Given the description of an element on the screen output the (x, y) to click on. 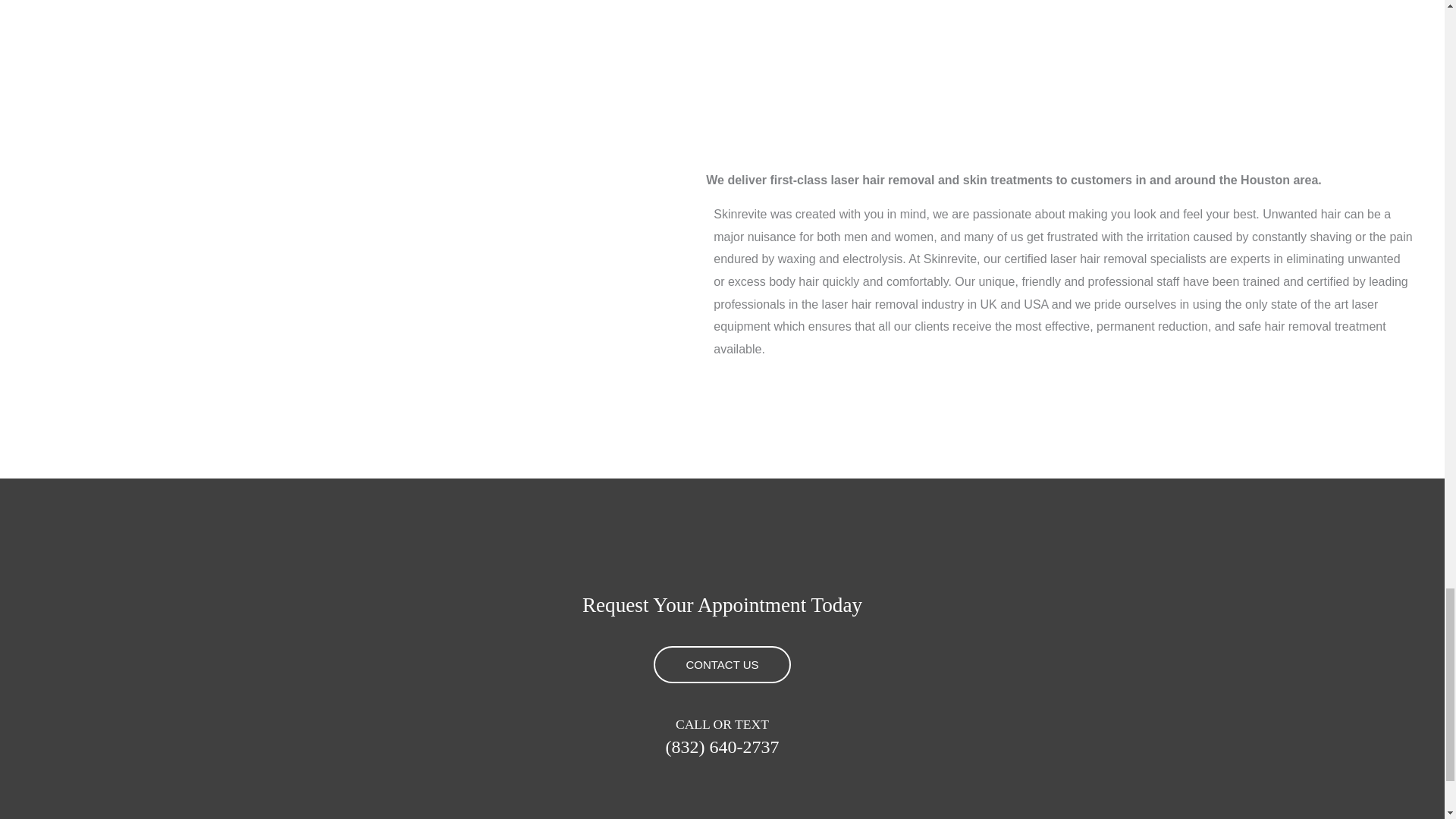
CONTACT US (721, 664)
